Given the description of an element on the screen output the (x, y) to click on. 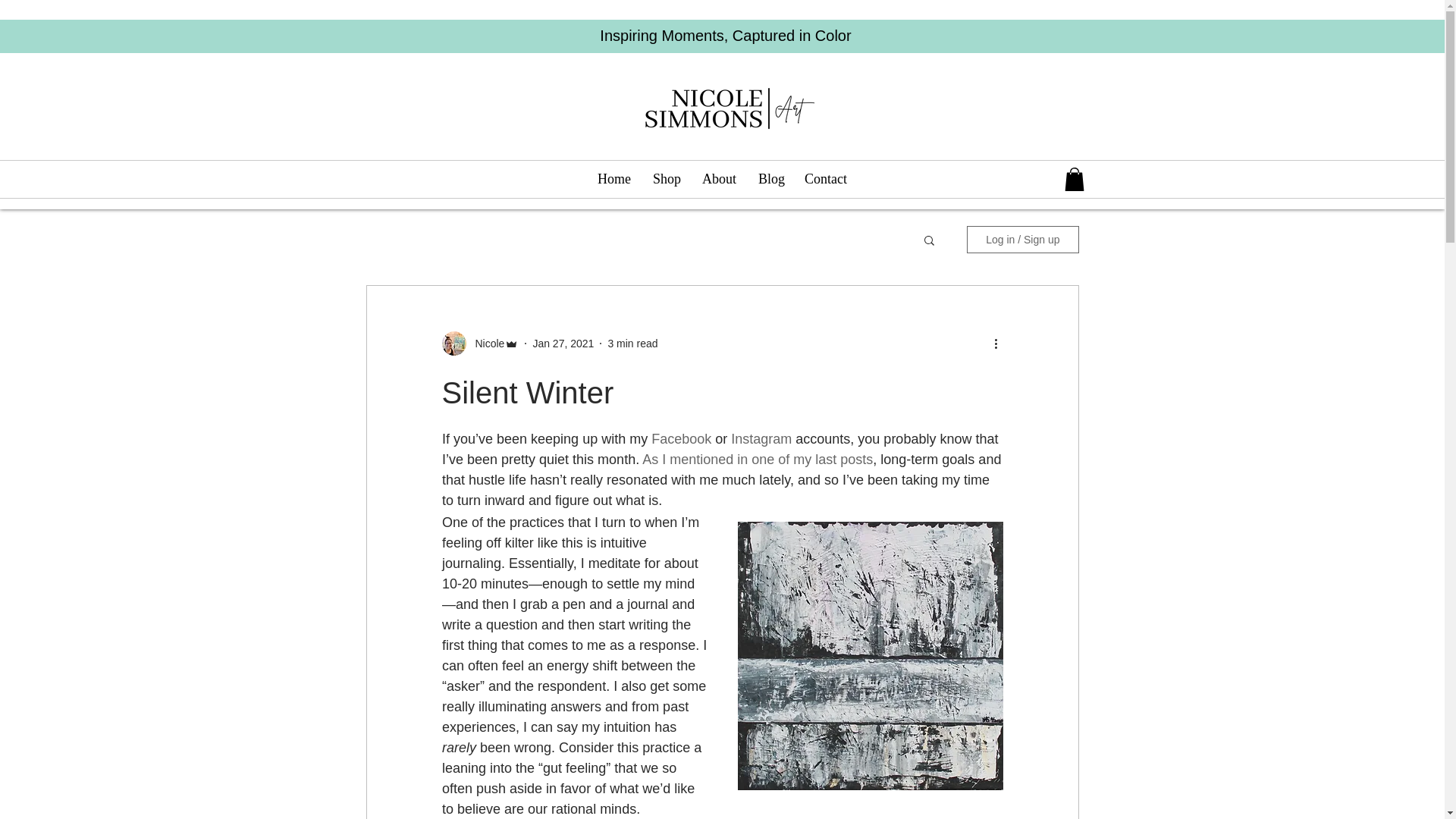
3 min read (632, 343)
As I mentioned in one of my last posts (757, 459)
About (718, 179)
Jan 27, 2021 (563, 343)
Shop (666, 179)
Contact (826, 179)
Instagram (761, 438)
Blog (769, 179)
Nicole (484, 343)
Facebook (680, 438)
